Given the description of an element on the screen output the (x, y) to click on. 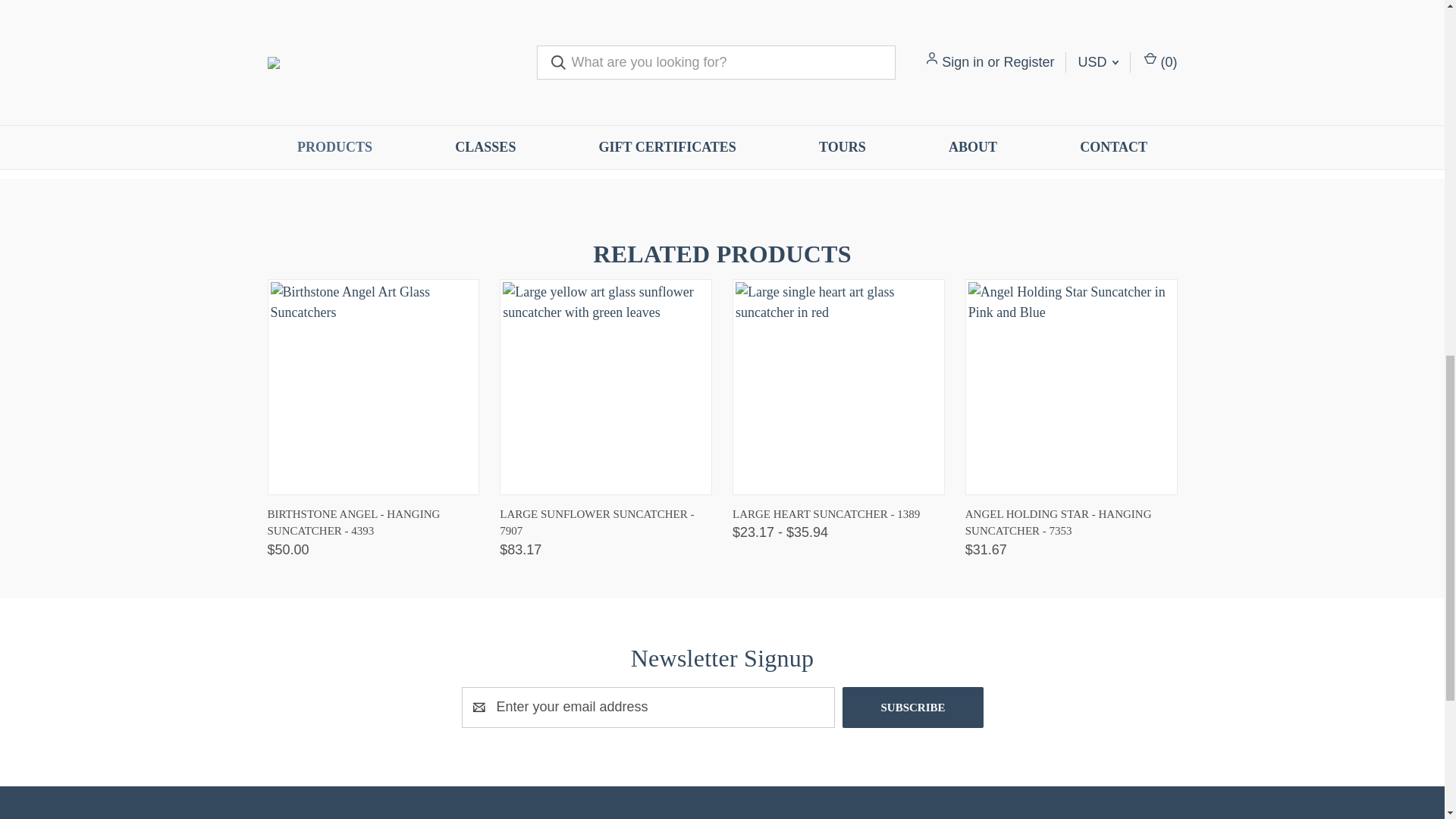
Birthstone Angel Art Glass Suncatchers (372, 386)
Large single heart art glass suncatcher in red (838, 386)
Subscribe (912, 707)
Angel Holding Star Suncatcher in Pink and Blue (1071, 386)
